Given the description of an element on the screen output the (x, y) to click on. 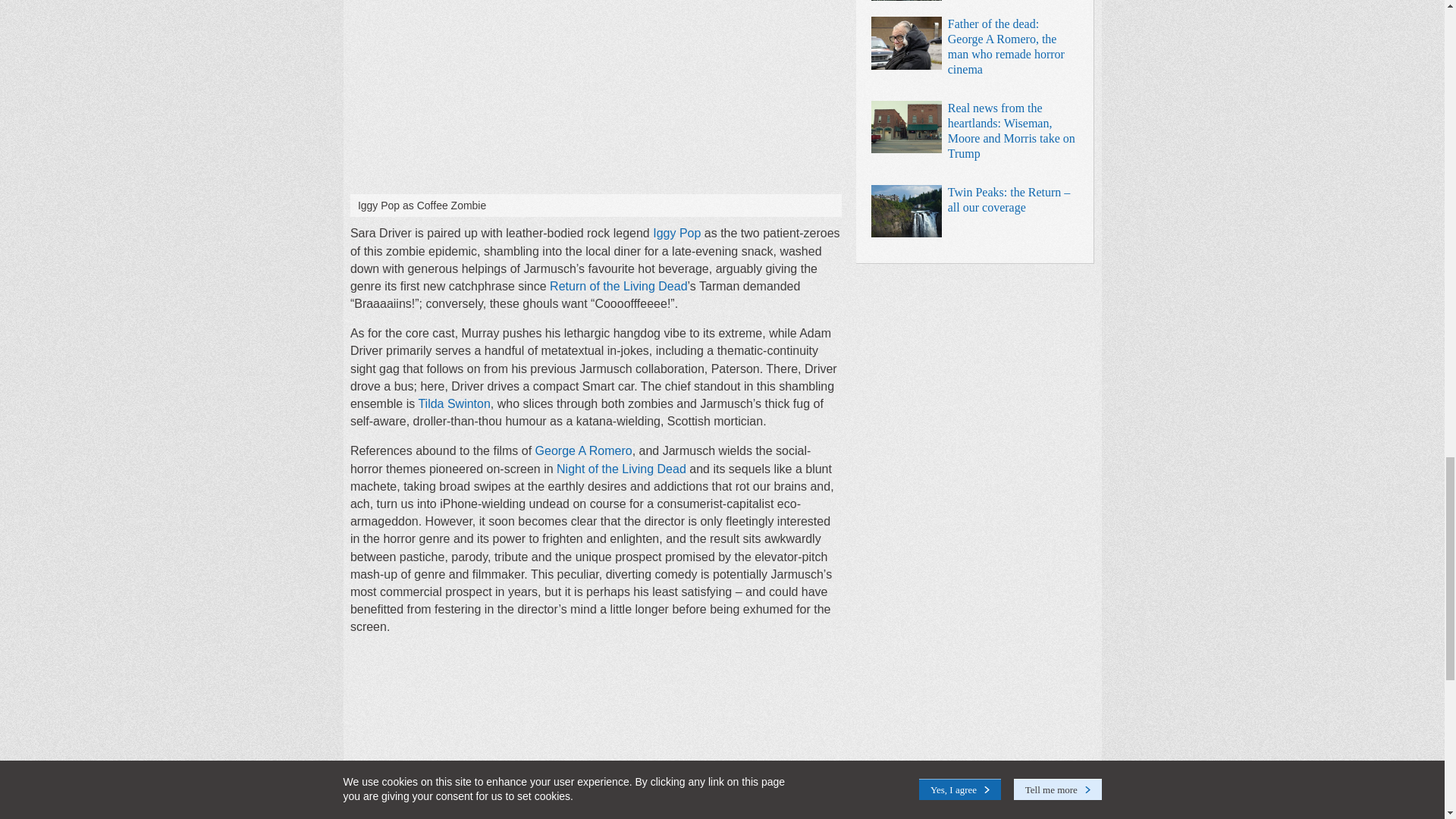
YouTube video player (595, 739)
